Given the description of an element on the screen output the (x, y) to click on. 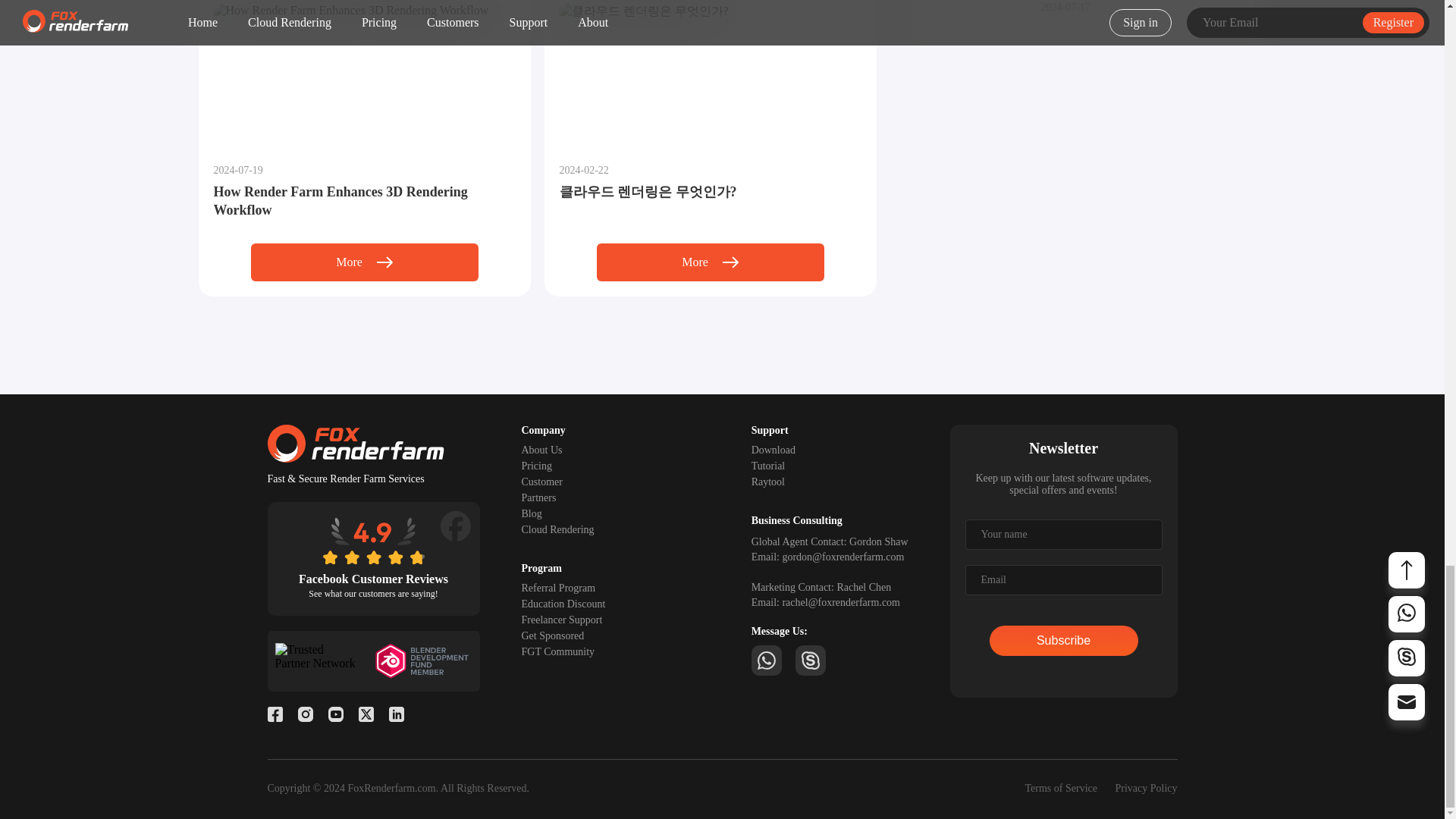
Please fill out this field. (1062, 534)
